Given the description of an element on the screen output the (x, y) to click on. 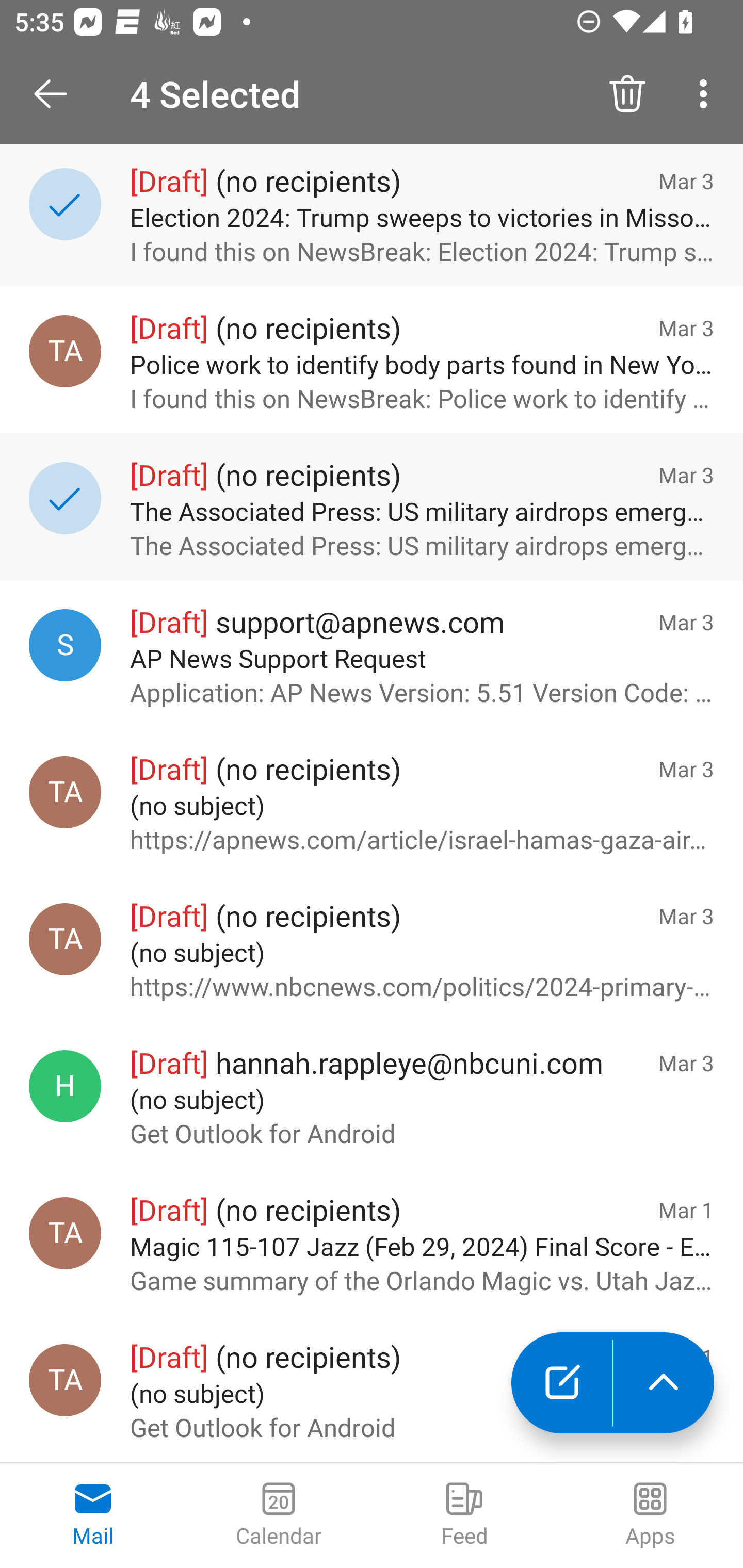
Delete (626, 93)
More options (706, 93)
Open Navigation Drawer (57, 94)
Test Appium, testappium002@outlook.com (64, 351)
support@apnews.com (64, 645)
Test Appium, testappium002@outlook.com (64, 791)
Test Appium, testappium002@outlook.com (64, 939)
hannah.rappleye@nbcuni.com (64, 1086)
Test Appium, testappium002@outlook.com (64, 1233)
New mail (561, 1382)
launch the extended action menu (663, 1382)
Test Appium, testappium002@outlook.com (64, 1379)
Calendar (278, 1515)
Feed (464, 1515)
Apps (650, 1515)
